Given the description of an element on the screen output the (x, y) to click on. 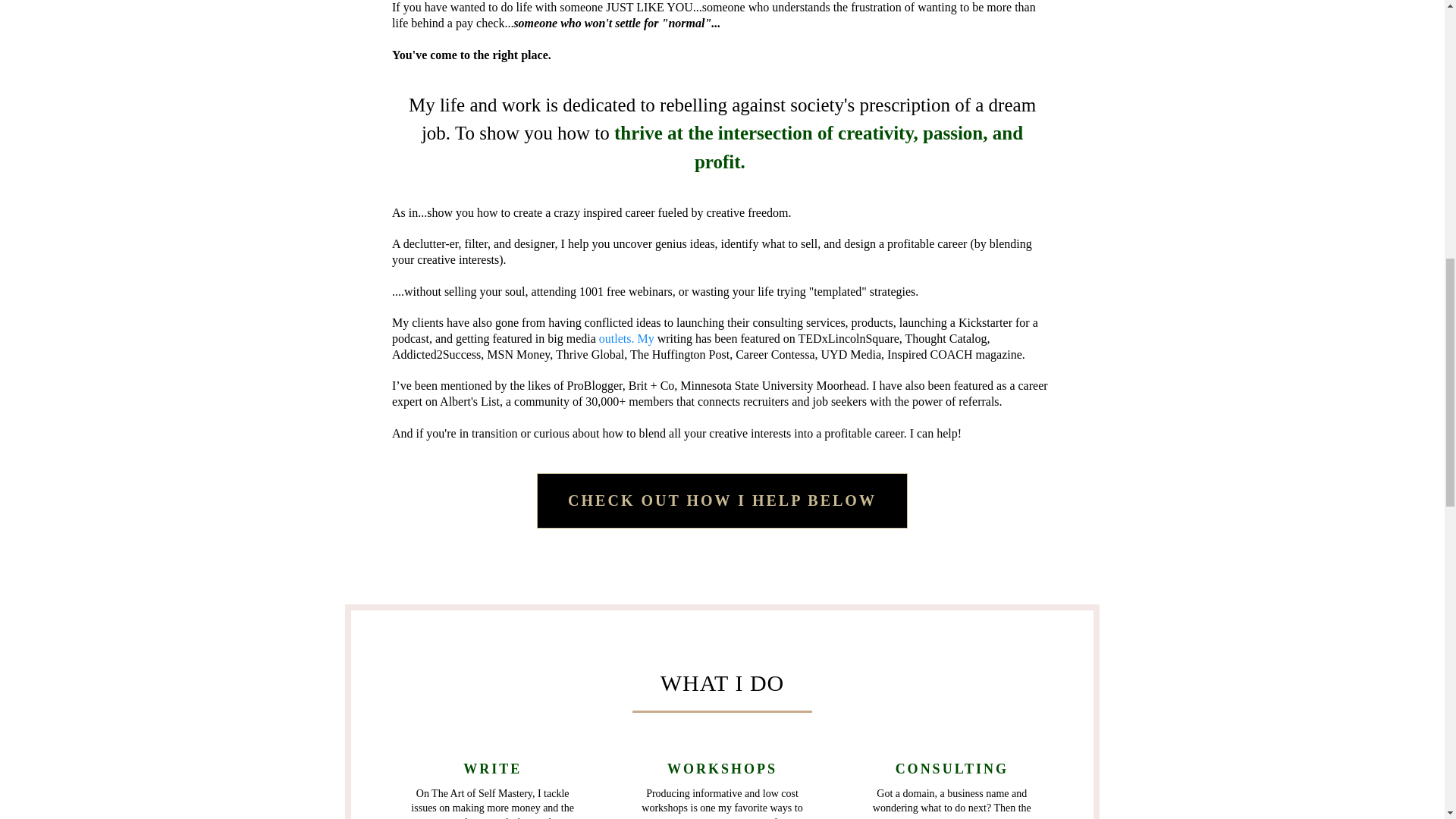
CHECK OUT HOW I HELP BELOW (722, 500)
outlets. My (625, 338)
